Given the description of an element on the screen output the (x, y) to click on. 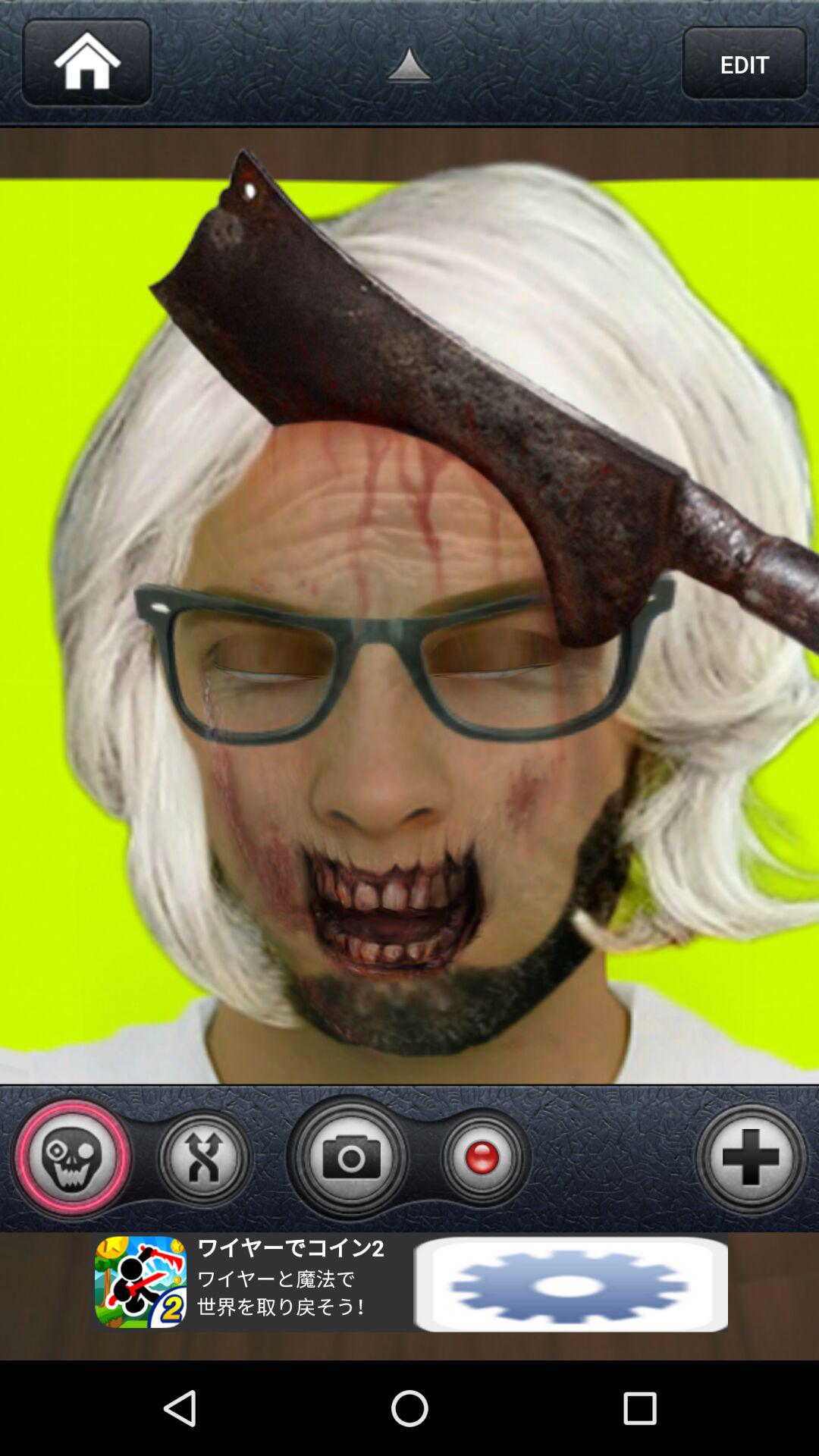
add button (751, 1158)
